Given the description of an element on the screen output the (x, y) to click on. 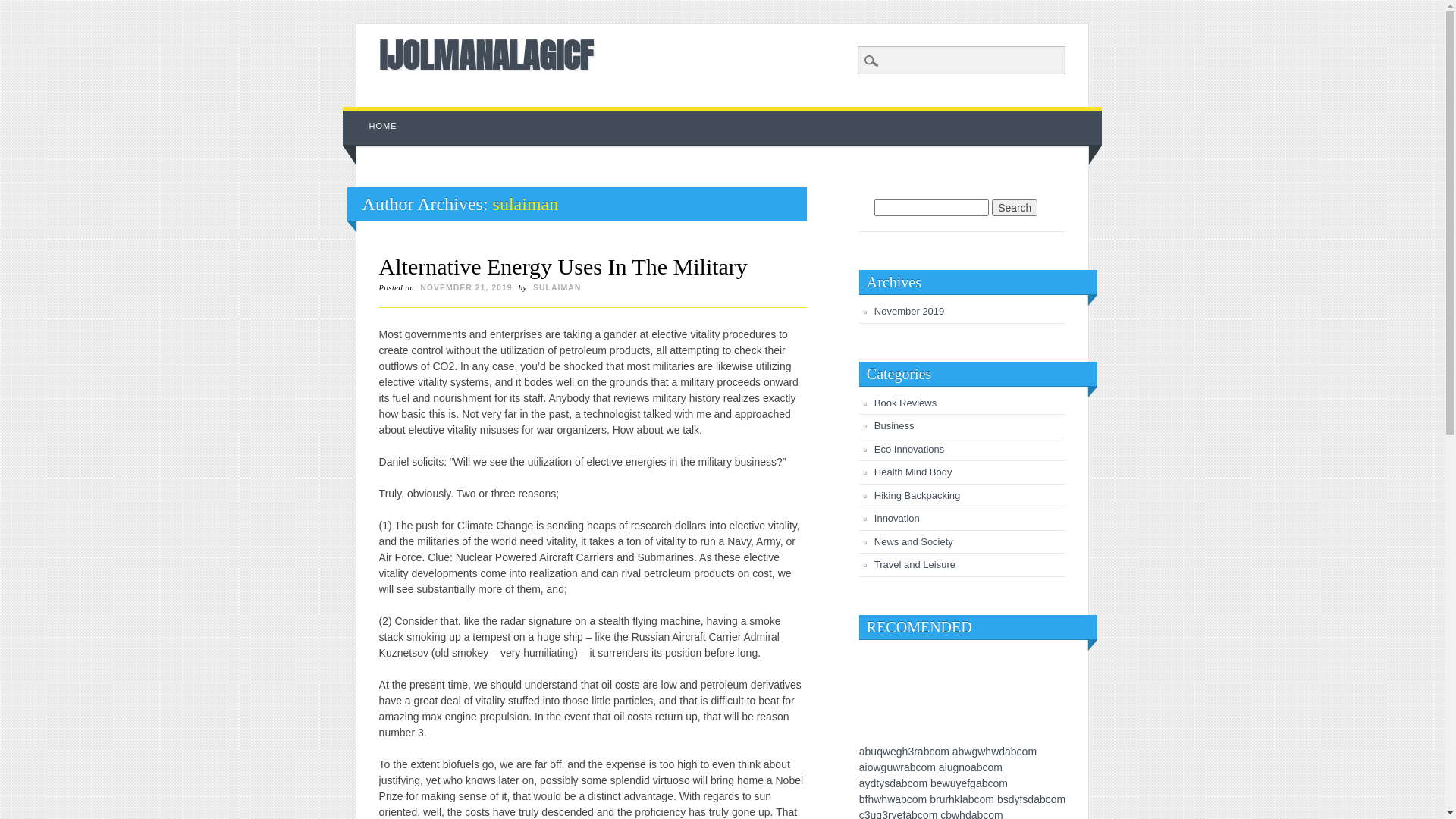
Eco Innovations Element type: text (909, 449)
bewuyefgabcom Element type: text (968, 783)
Alternative Energy Uses In The Military Element type: text (563, 266)
Health Mind Body Element type: text (913, 471)
Travel and Leisure Element type: text (914, 564)
News and Society Element type: text (913, 541)
bfhwhwabcom Element type: text (893, 799)
Skip to content Element type: text (377, 114)
aiugnoabcom Element type: text (970, 767)
November 2019 Element type: text (909, 310)
Search Element type: text (1014, 207)
aiowguwrabcom Element type: text (897, 767)
Business Element type: text (894, 425)
abuqwegh3rabcom Element type: text (904, 751)
brurhklabcom Element type: text (961, 799)
aydtysdabcom Element type: text (893, 783)
NOVEMBER 21, 2019 Element type: text (465, 286)
Book Reviews Element type: text (905, 402)
Hiking Backpacking Element type: text (917, 495)
HOME Element type: text (383, 125)
bsdyfsdabcom Element type: text (1031, 799)
IJOLMANALAGICF Element type: text (486, 55)
SULAIMAN Element type: text (556, 286)
sulaiman Element type: text (525, 203)
abwgwhwdabcom Element type: text (994, 751)
Innovation Element type: text (896, 518)
Search Element type: text (22, 8)
